Given the description of an element on the screen output the (x, y) to click on. 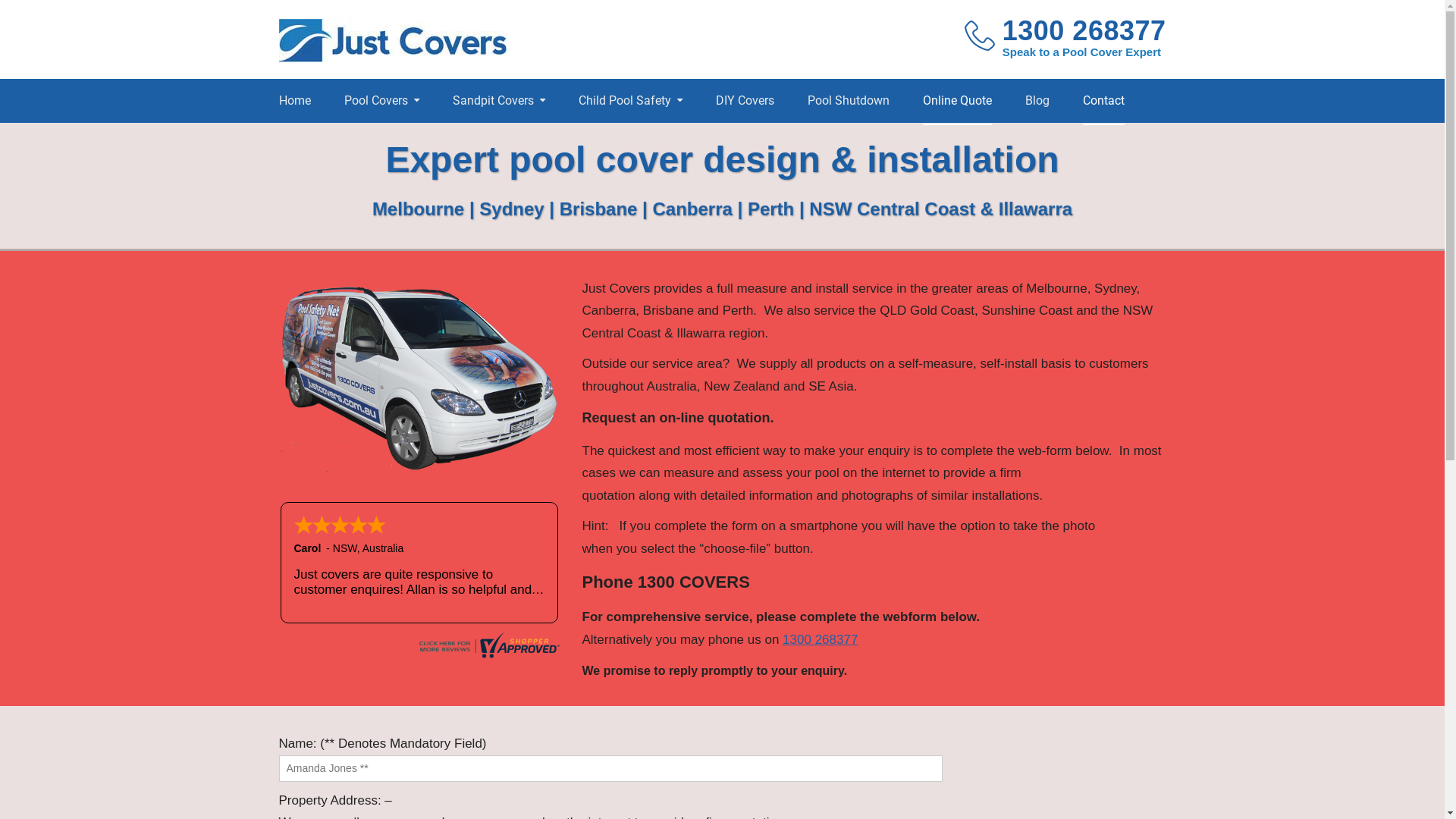
Home Element type: text (294, 100)
1300 268377 Element type: text (819, 639)
1300 268377 Element type: text (1084, 31)
Sandpit Covers Element type: text (497, 100)
Winter Shutdown Cover Element type: text (411, 139)
Sydney Element type: text (514, 208)
Pool Covers Element type: text (381, 100)
What Is The Best Pool Cover? Element type: text (411, 146)
Blog Element type: text (1037, 100)
Canberra Element type: text (694, 208)
DIY Covers Element type: text (744, 100)
Child Pool Safety Element type: text (629, 100)
Hidden Deck Mount Roller (DMR) | Below Ground Box (BGB) Element type: text (583, 153)
Non Heating Pool Cover Element type: text (583, 139)
Pool Safety Options Element type: text (646, 139)
Daisy Solar Covers & Rollers Element type: text (583, 146)
Contact Element type: text (1103, 100)
Brisbane Element type: text (598, 208)
Pool Shutdown Element type: text (847, 100)
Sandpit Cover Attachments Element type: text (521, 146)
Sandpit Cover On Roller Element type: text (521, 138)
Sandpit Covers Element type: text (521, 139)
Online Quote Element type: text (956, 100)
Contact Us / Online Quote Element type: text (411, 145)
Daisy Roller End Wall Mount Element type: text (583, 145)
Perth Element type: text (770, 208)
Melbourne Element type: text (418, 208)
Pond Safety Net Element type: text (646, 138)
Skip to content Element type: text (0, 0)
NSW Central Coast & Illawarra Element type: text (940, 208)
